Given the description of an element on the screen output the (x, y) to click on. 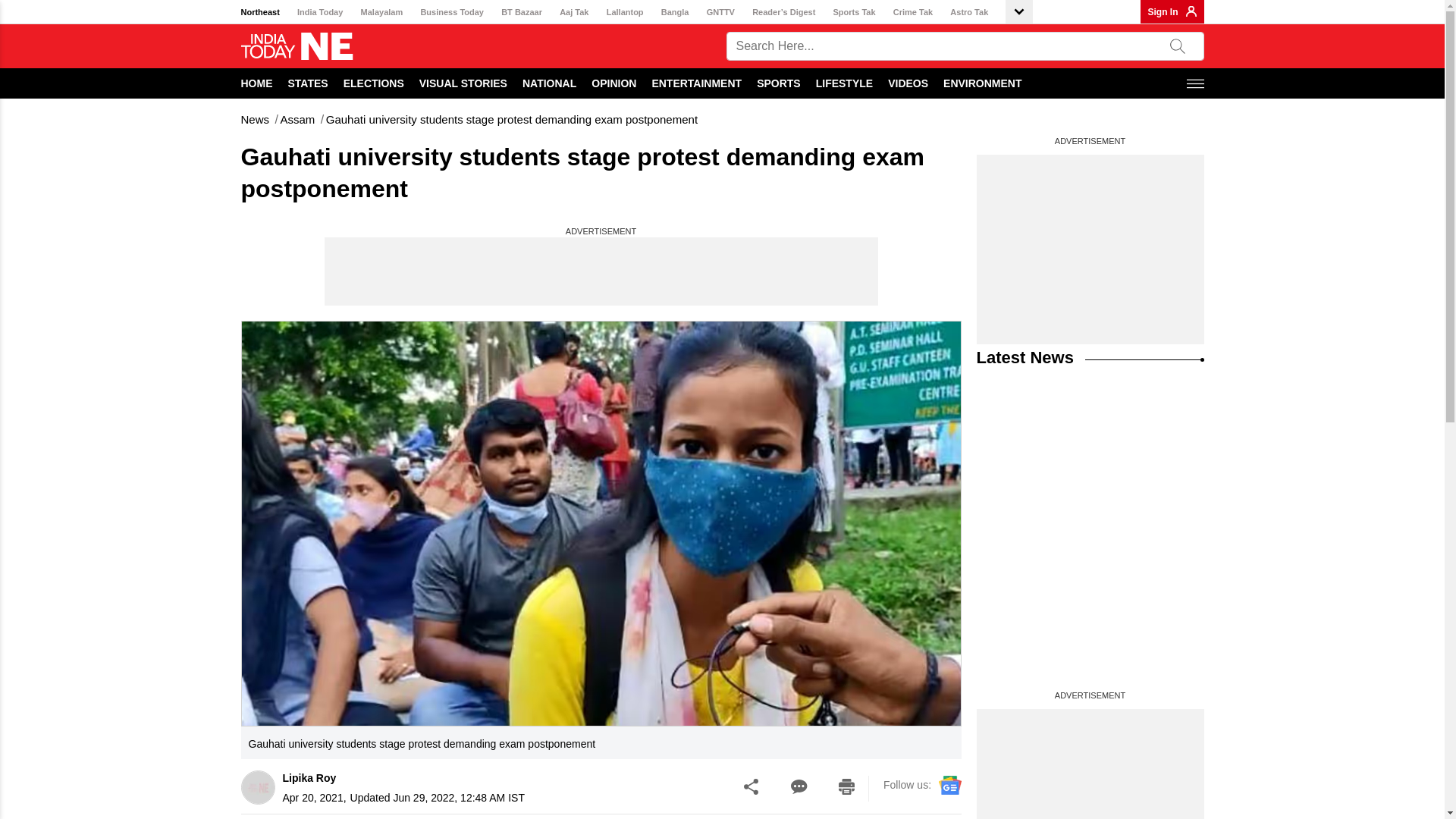
Northeast (260, 12)
HOME (257, 82)
India Today (319, 12)
Crime Tak (913, 12)
Crime Tak (913, 12)
STATES (308, 82)
Sign In (1162, 11)
Bangla (674, 12)
Sports Tak (854, 12)
ELECTIONS (373, 82)
OPINION (613, 82)
Astro Tak (969, 12)
Malayalam (382, 12)
GNTTV (720, 12)
BT Bazaar (520, 12)
